Given the description of an element on the screen output the (x, y) to click on. 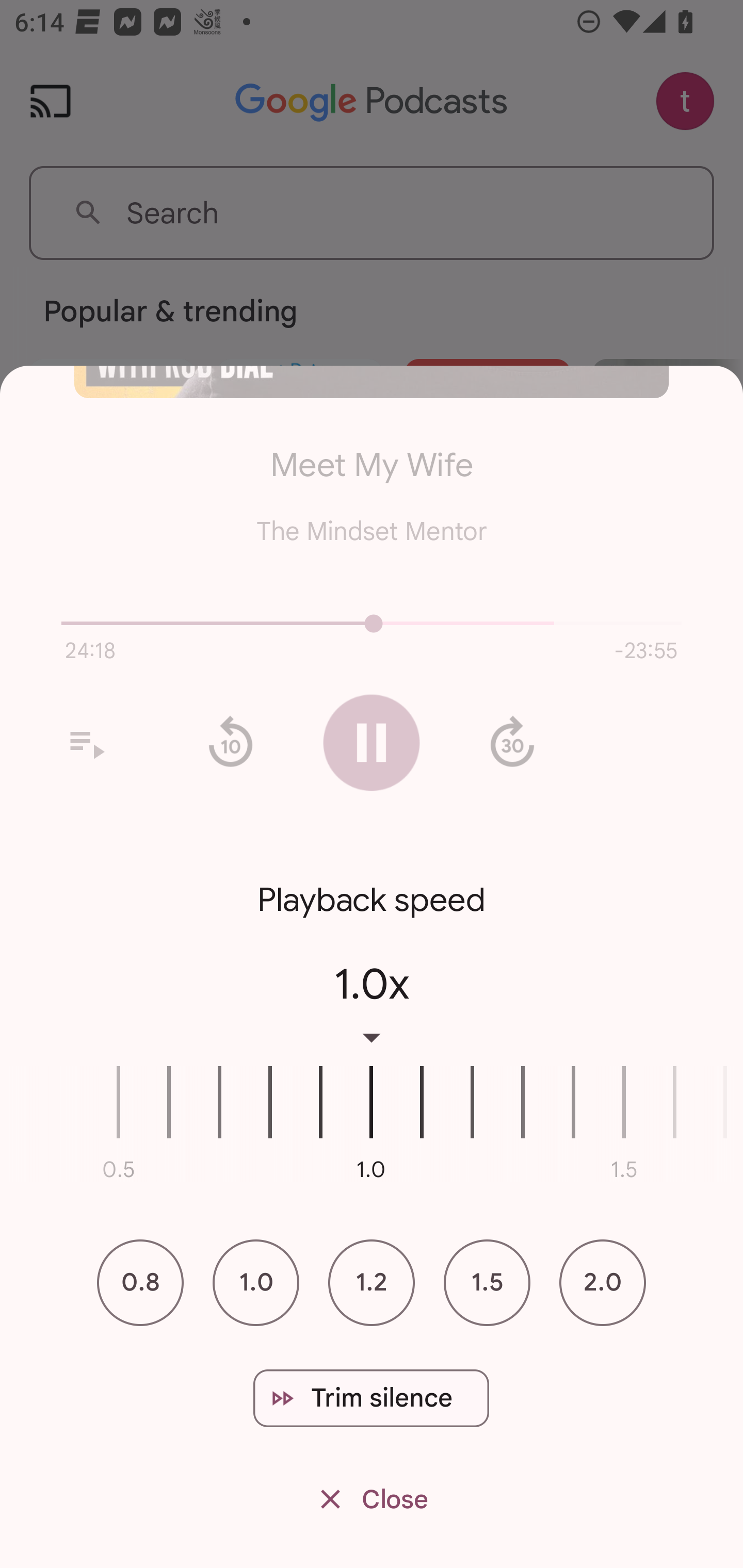
Meet My Wife The Mindset Mentor (371, 482)
5038.0 Current episode playback (371, 623)
Pause (371, 743)
View your queue (86, 742)
Rewind 10 seconds (230, 742)
Fast forward 30 second (511, 742)
0.8 Set playback speed to 0.8 (140, 1282)
1.0 Set playback speed to 1.0 (255, 1282)
1.2 Set playback speed to 1.2 (371, 1282)
1.5 Set playback speed to 1.5 (486, 1282)
2.0 Set playback speed to 2.0 (602, 1282)
Trim silence Enable trim silence (370, 1397)
Close (371, 1499)
